Given the description of an element on the screen output the (x, y) to click on. 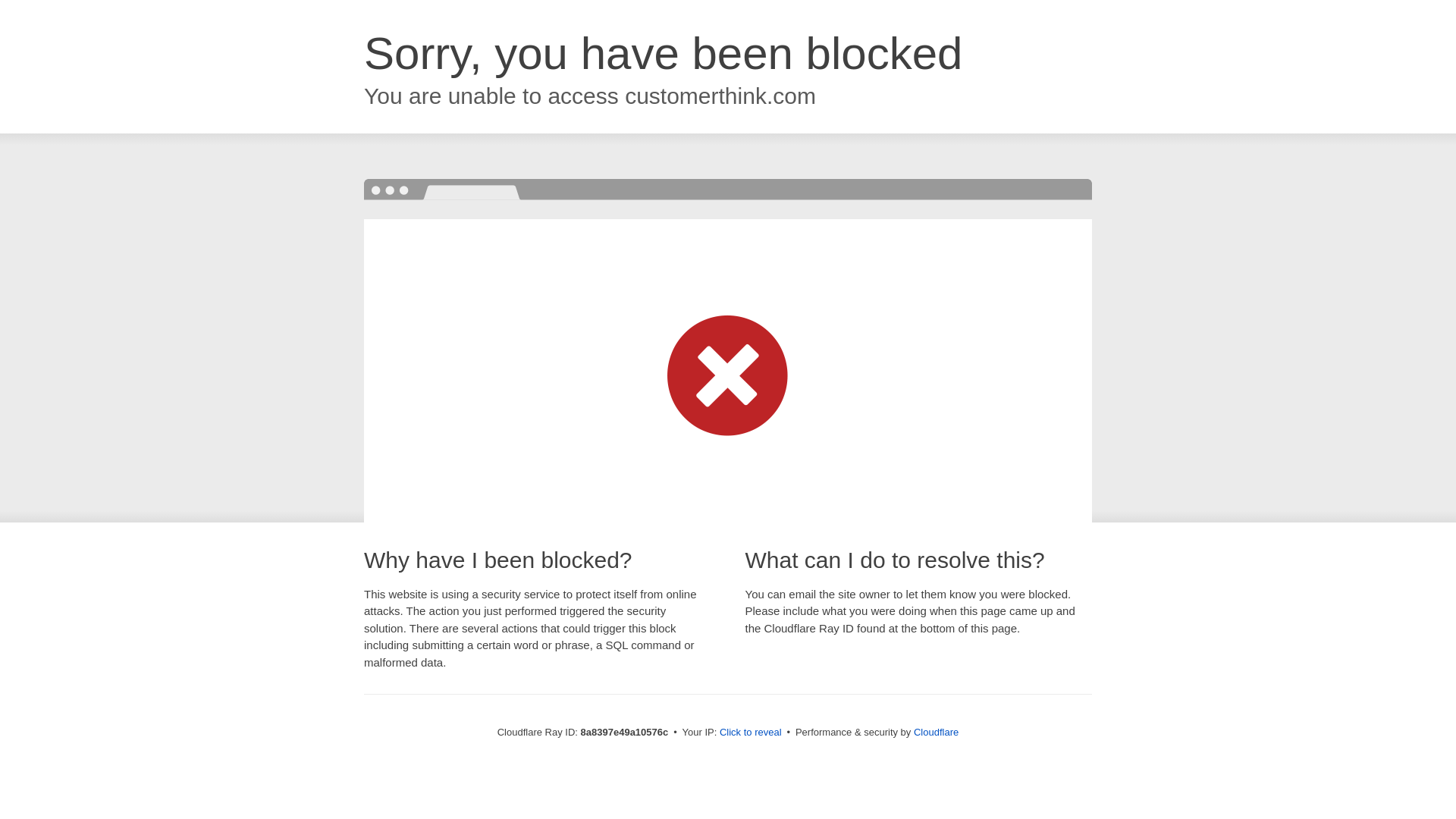
Click to reveal (750, 732)
Cloudflare (936, 731)
